Given the description of an element on the screen output the (x, y) to click on. 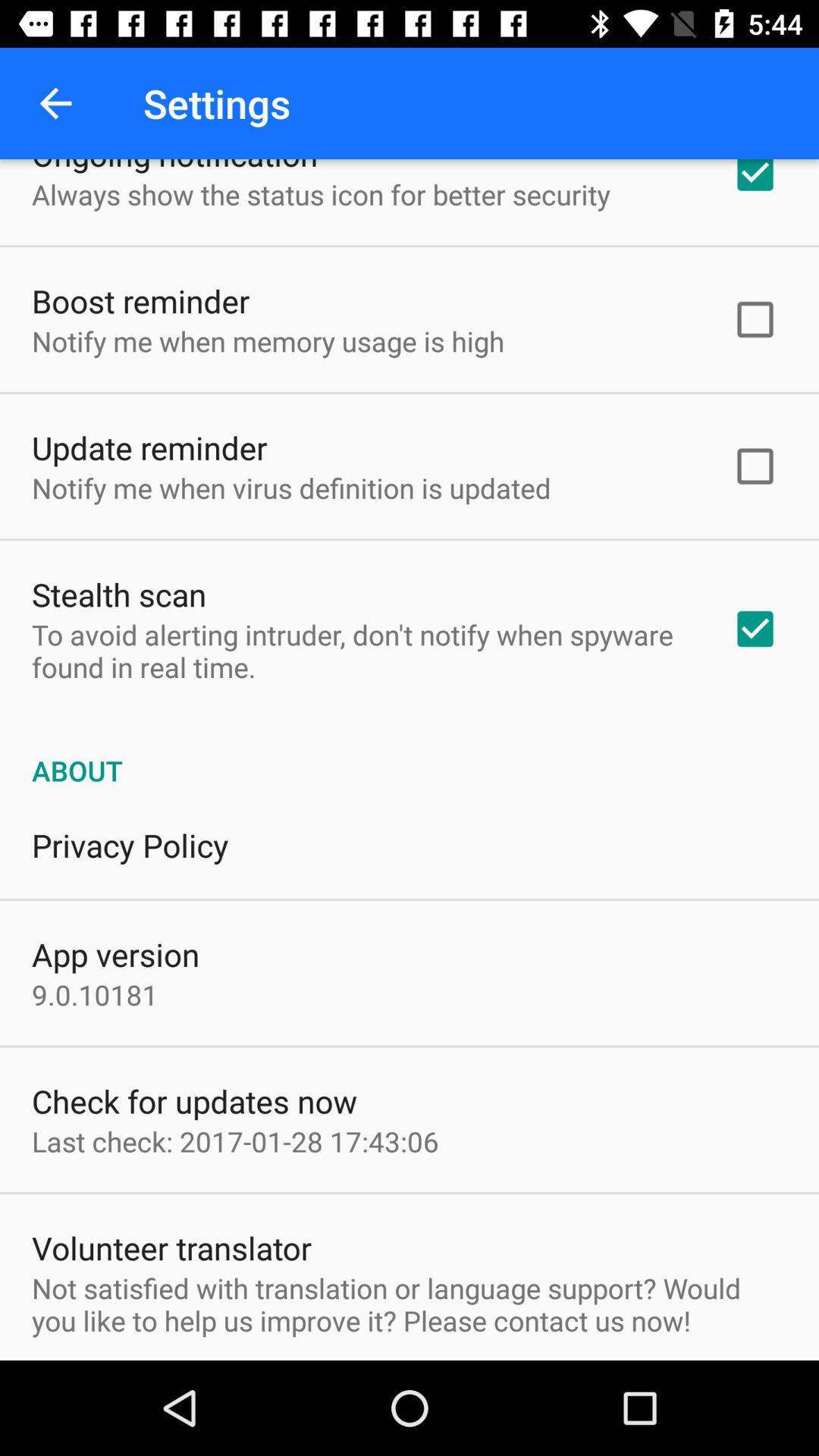
flip until privacy policy (129, 844)
